Given the description of an element on the screen output the (x, y) to click on. 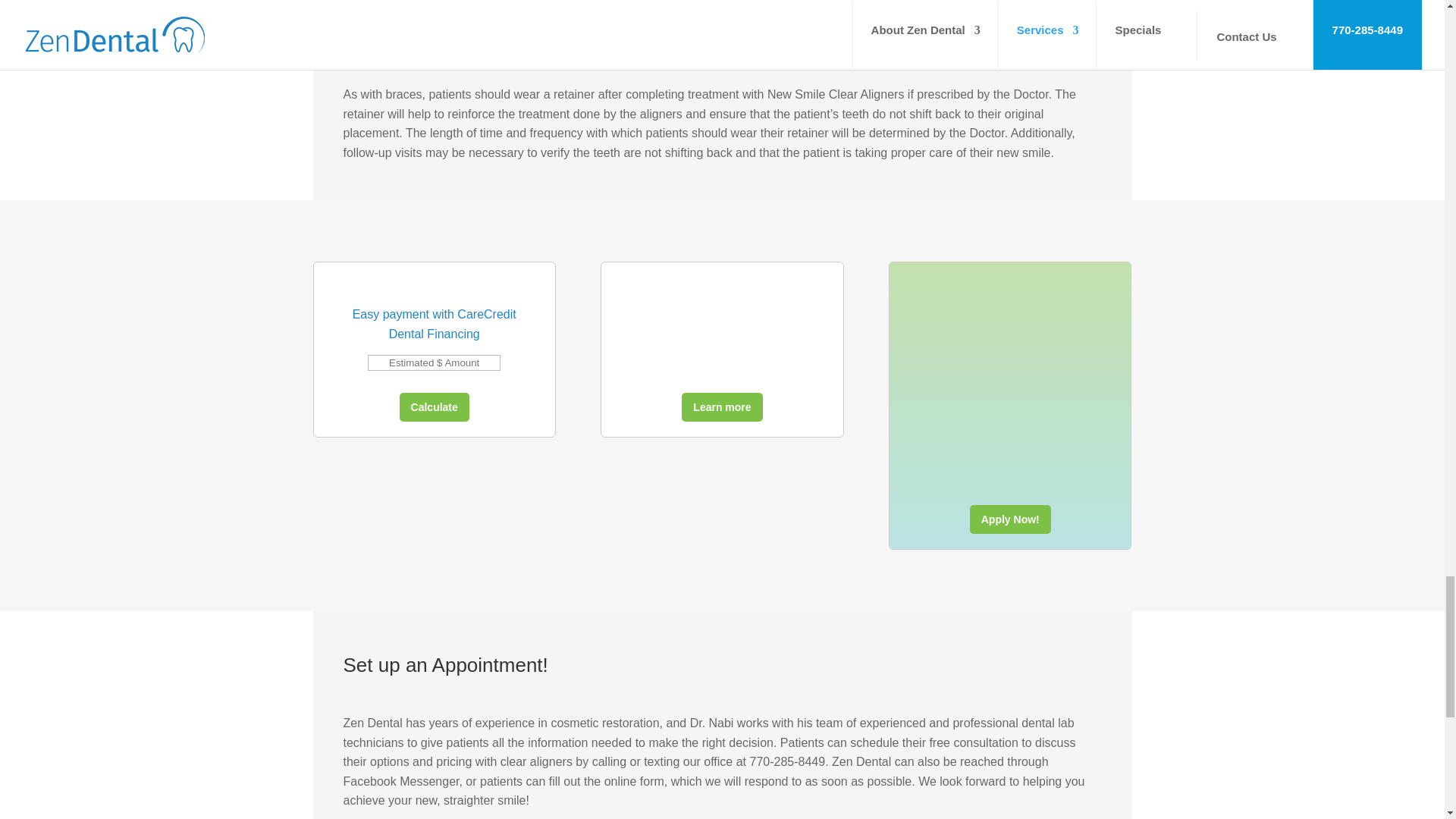
Learn more (721, 407)
Calculate (433, 407)
Calculate (433, 407)
Apply Now! (1010, 519)
